Given the description of an element on the screen output the (x, y) to click on. 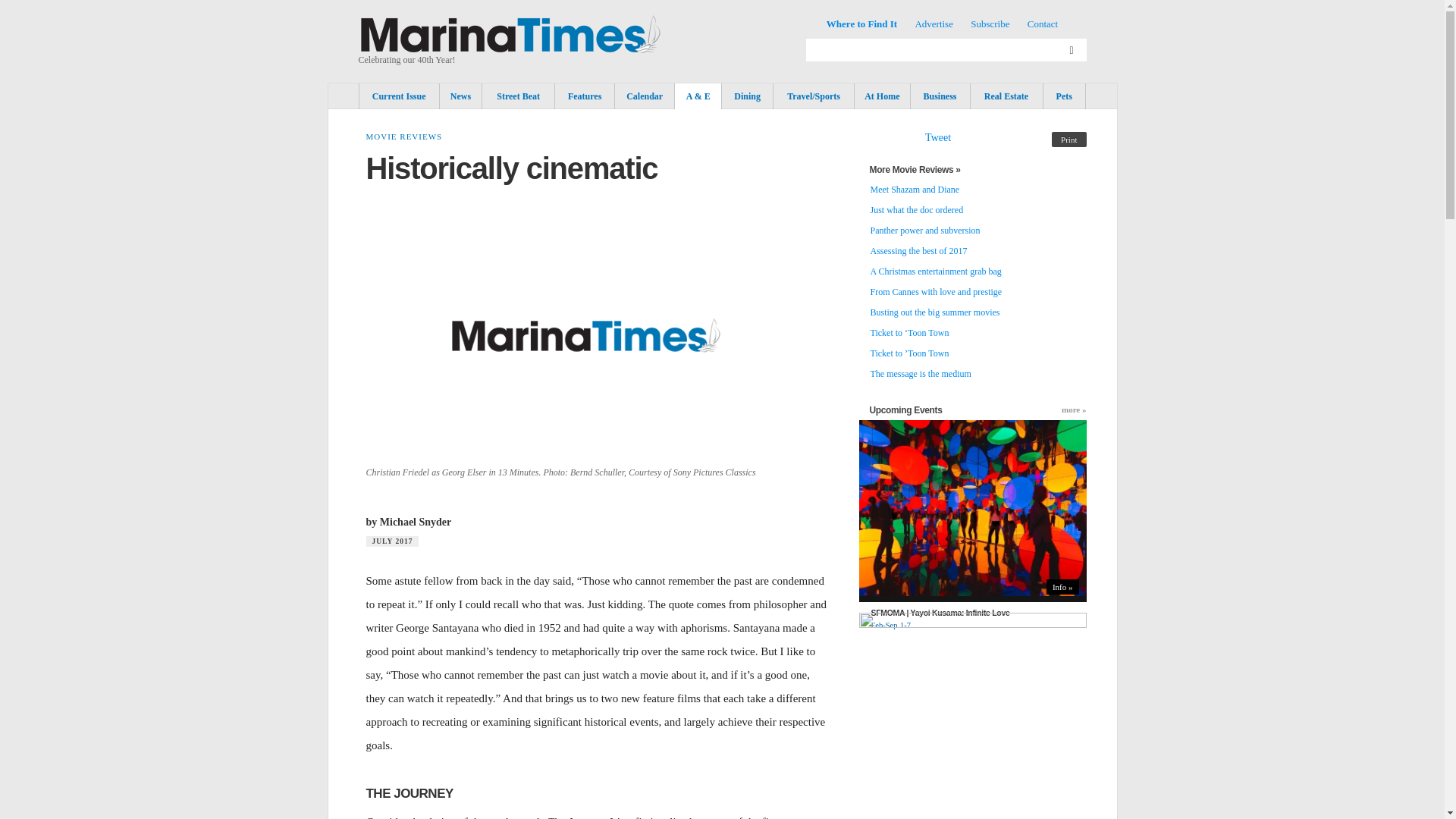
Street Beat (517, 95)
Subscribe (990, 23)
Where to Find It (861, 23)
Current Issue (399, 95)
Features (584, 95)
Advertise (933, 23)
News (460, 95)
Contact (1042, 23)
